Given the description of an element on the screen output the (x, y) to click on. 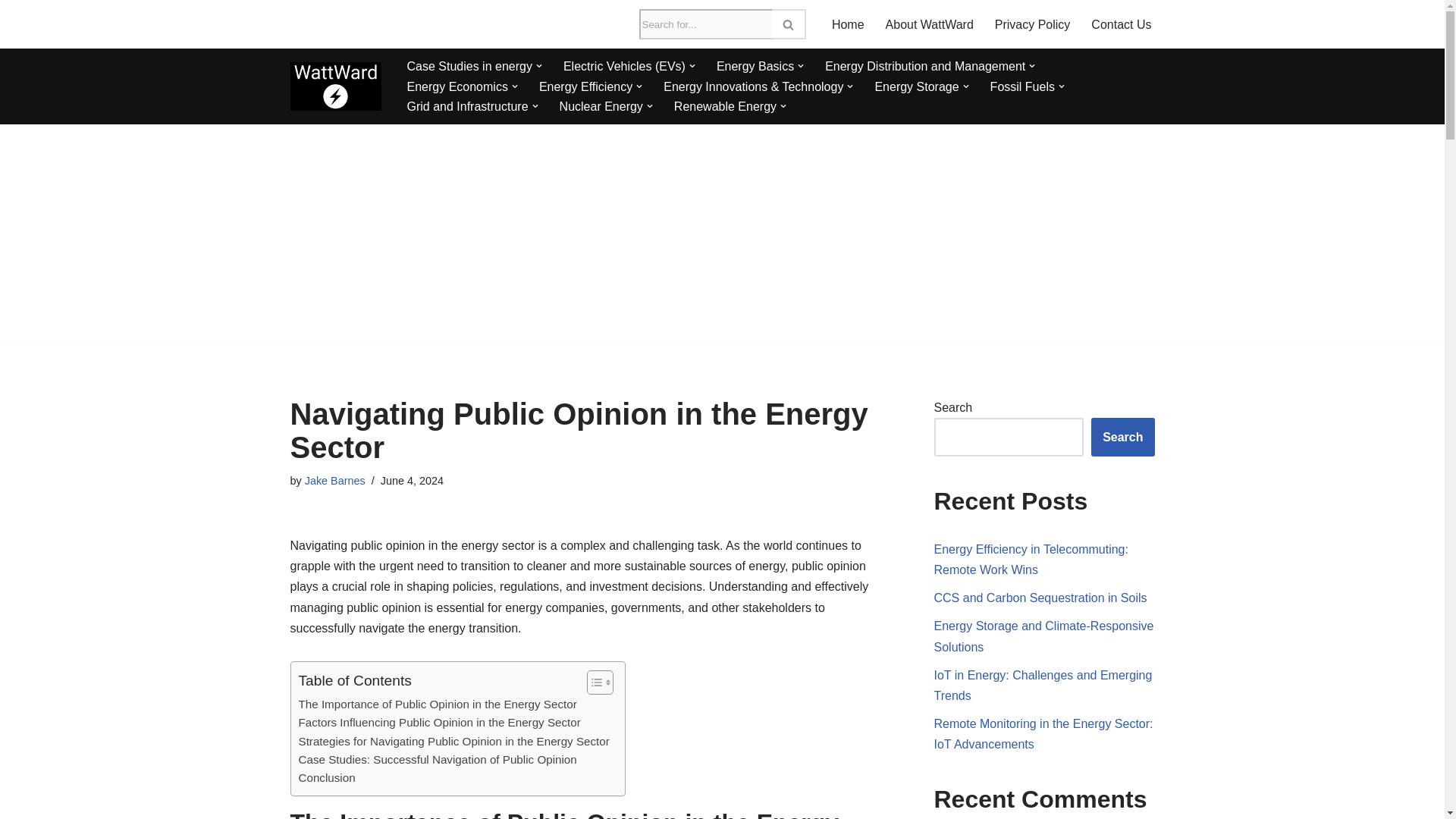
Case Studies: Successful Navigation of Public Opinion (437, 760)
Contact Us (1120, 24)
Home (847, 24)
Energy Distribution and Management (925, 66)
Privacy Policy (1032, 24)
About WattWard (929, 24)
Energy Economics (456, 86)
The Importance of Public Opinion in the Energy Sector (437, 704)
Factors Influencing Public Opinion in the Energy Sector (439, 722)
Case Studies in energy (468, 66)
Conclusion (326, 778)
Energy Efficiency (584, 86)
Energy Basics (754, 66)
